Given the description of an element on the screen output the (x, y) to click on. 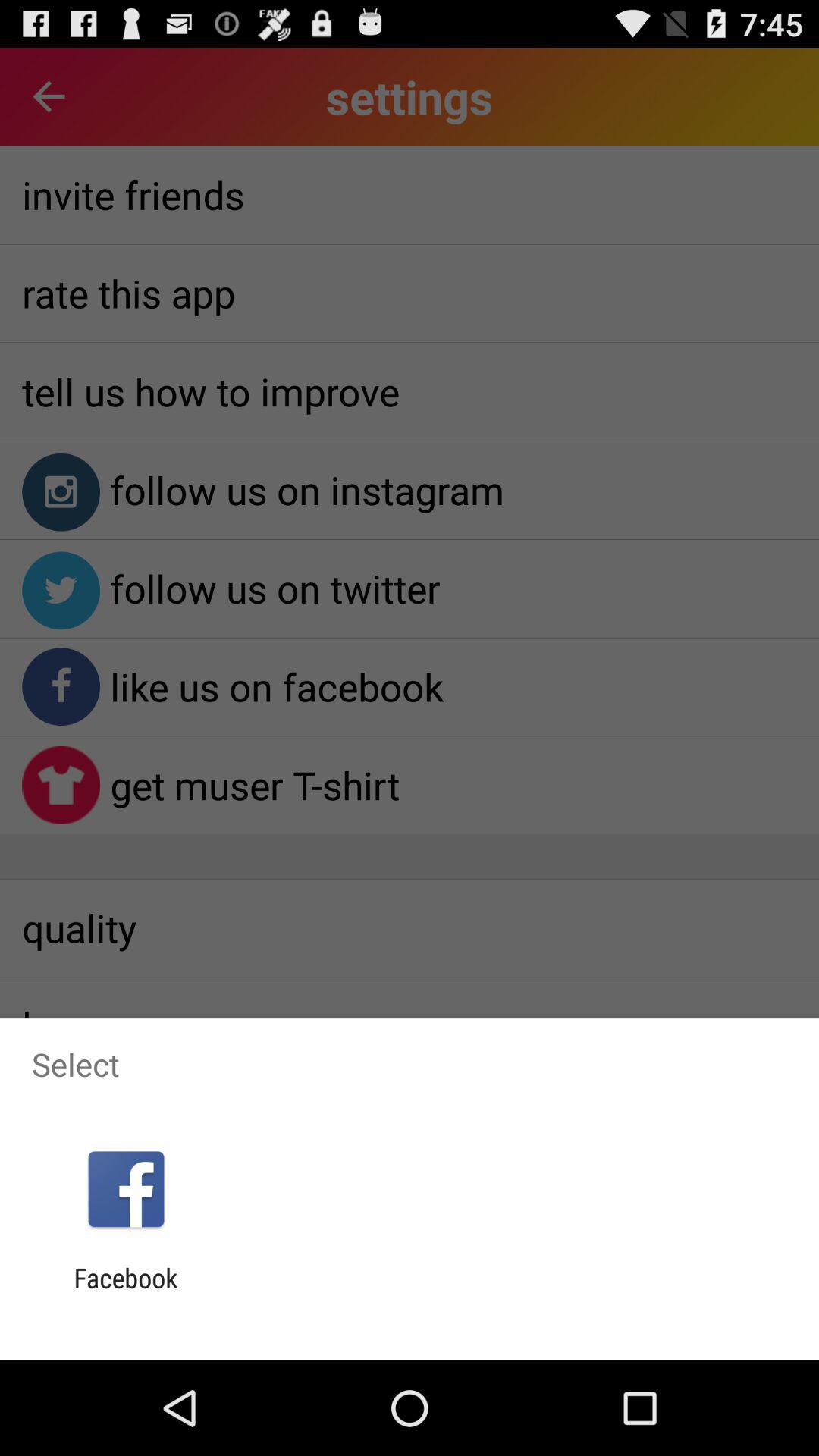
swipe until facebook app (125, 1293)
